Given the description of an element on the screen output the (x, y) to click on. 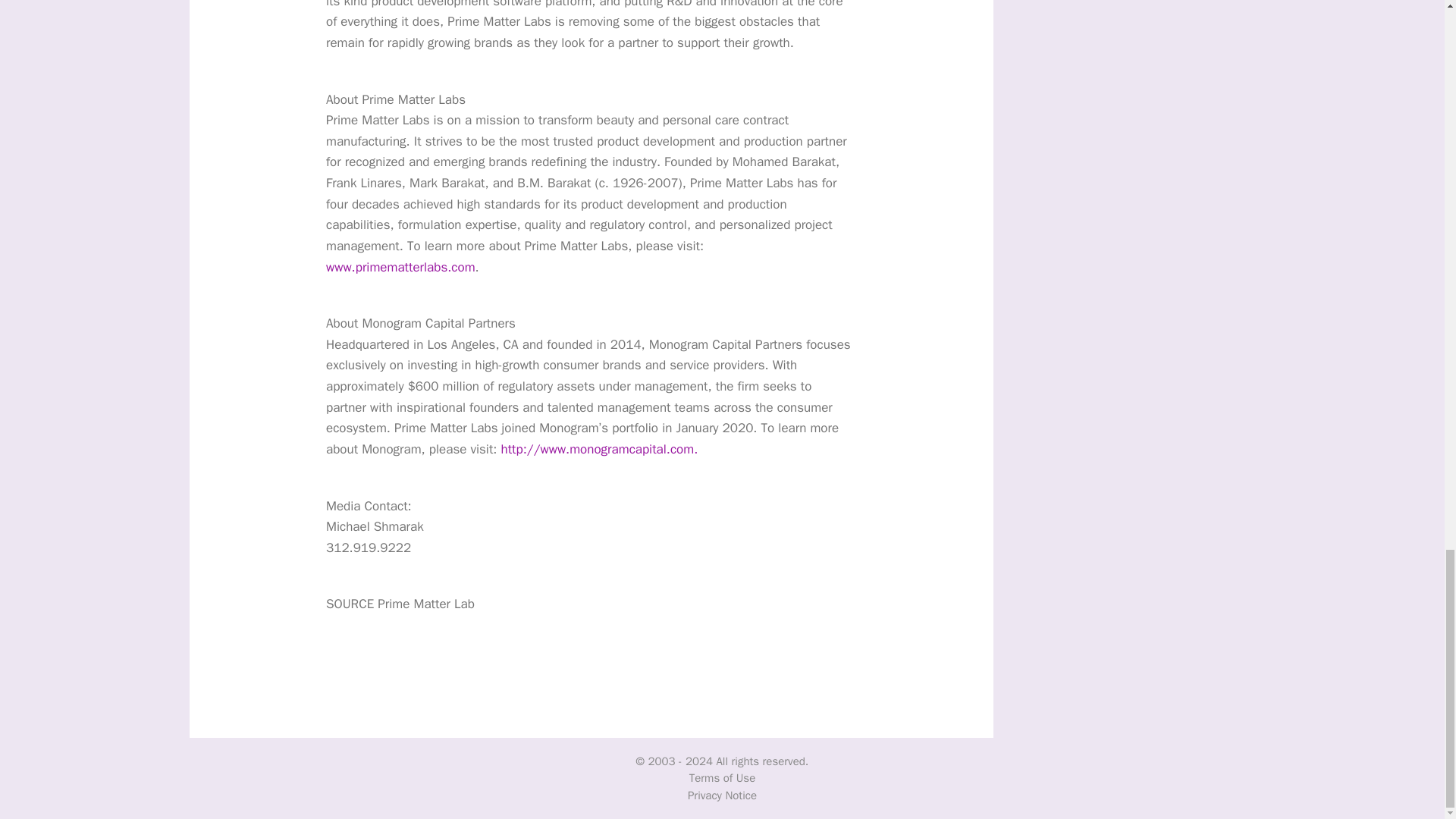
Terms of Use (721, 777)
Privacy Notice (722, 795)
www.primematterlabs.com (401, 267)
